Given the description of an element on the screen output the (x, y) to click on. 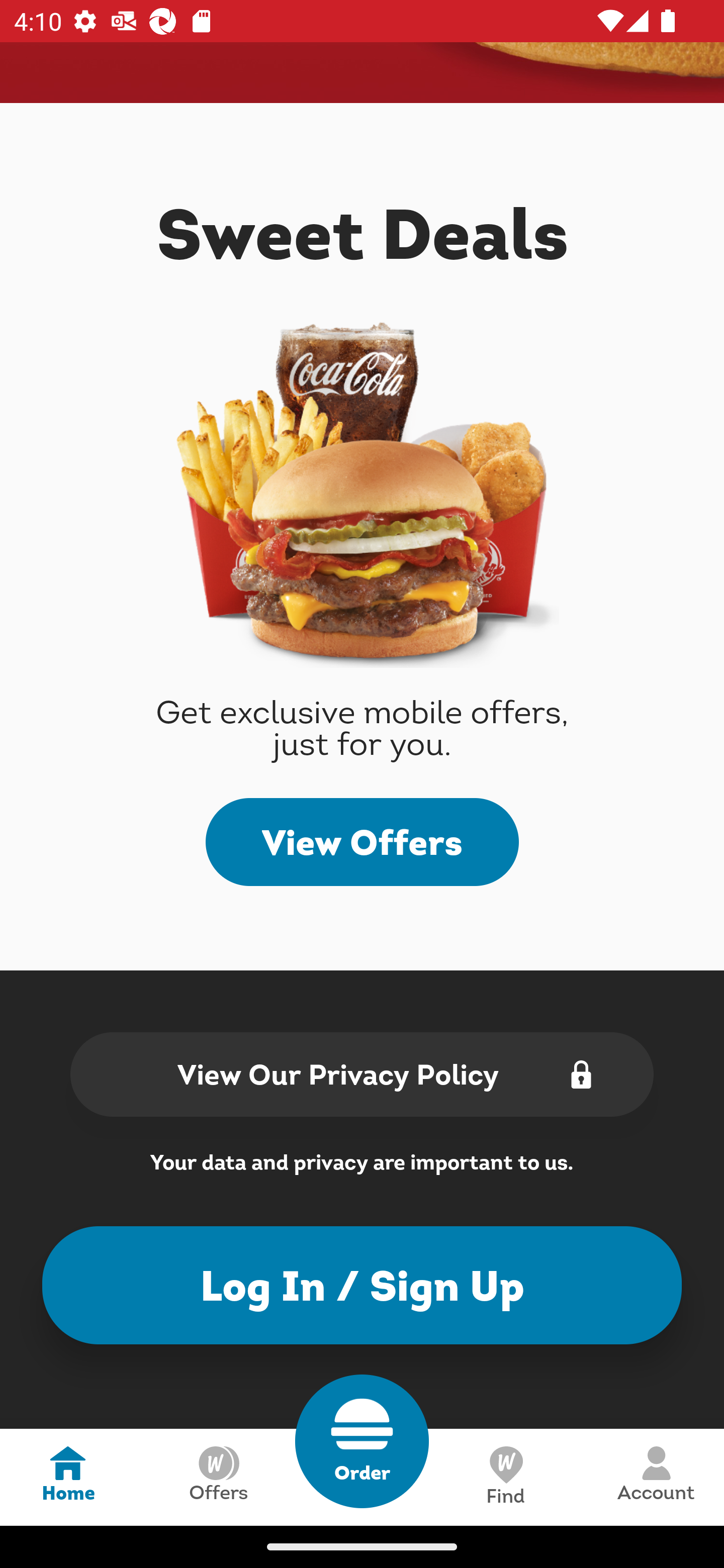
View Offers (362, 841)
View Our Privacy Policy (361, 1073)
Log In / Sign Up (361, 1284)
Order,3 of 5 Order (361, 1441)
Home,1 of 5 Home (68, 1476)
Rewards,2 of 5 Offers Offers (218, 1476)
Scan,4 of 5 Find Find (505, 1476)
Account,5 of 5 Account (655, 1476)
